Given the description of an element on the screen output the (x, y) to click on. 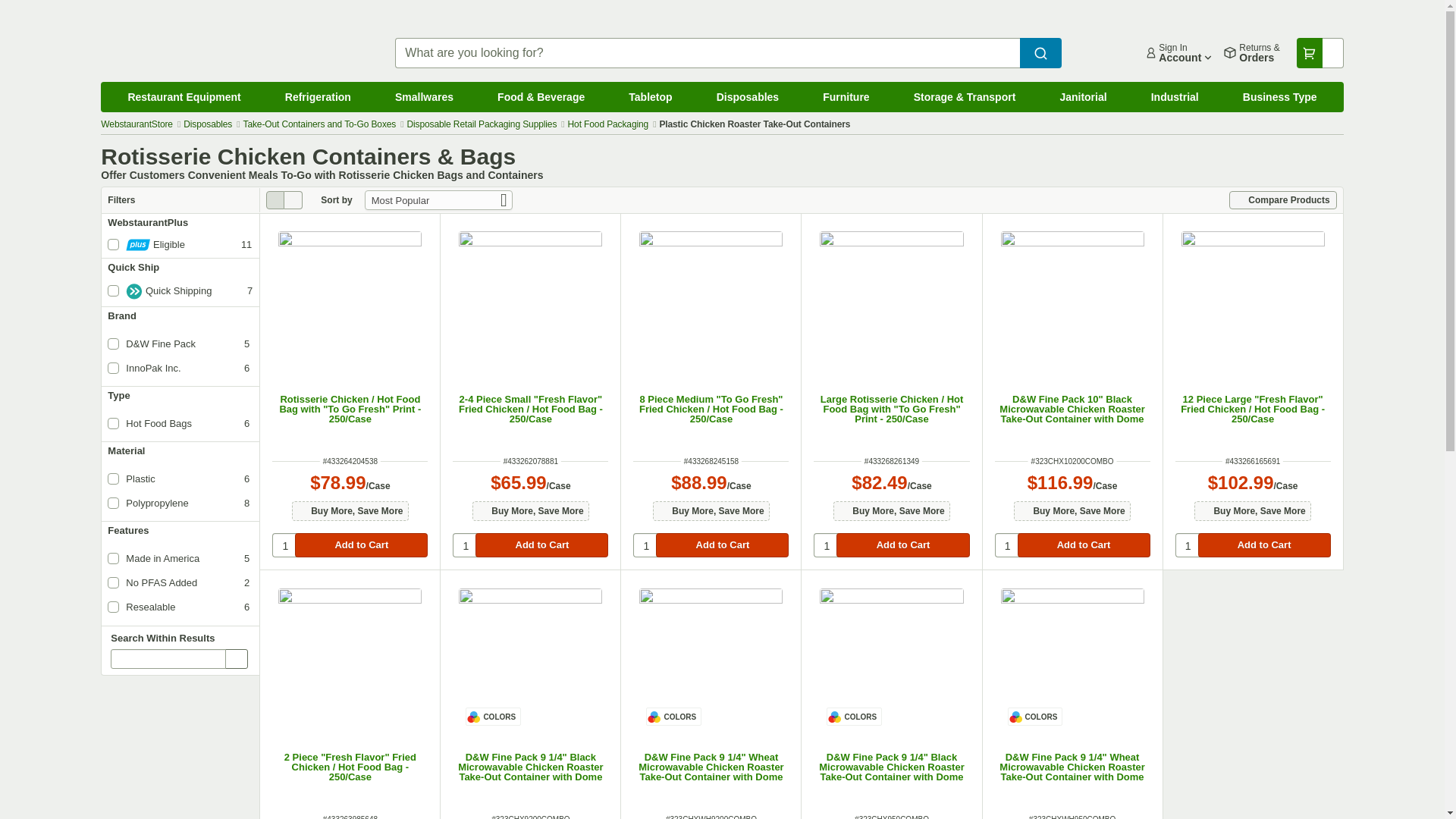
Take-Out Containers and To-Go Boxes (319, 123)
Add to Cart (542, 545)
1 (825, 545)
Refrigeration (317, 96)
WebstaurantStore (136, 123)
1 (1186, 545)
Business Type (1280, 96)
Restaurant Equipment (183, 96)
Hot Food Packaging (608, 123)
Search WebstaurantStore (1040, 52)
Add to Cart (361, 545)
Disposable Retail Packaging Supplies (481, 123)
Disposables (748, 96)
1 (645, 545)
Add to Cart (722, 545)
